Given the description of an element on the screen output the (x, y) to click on. 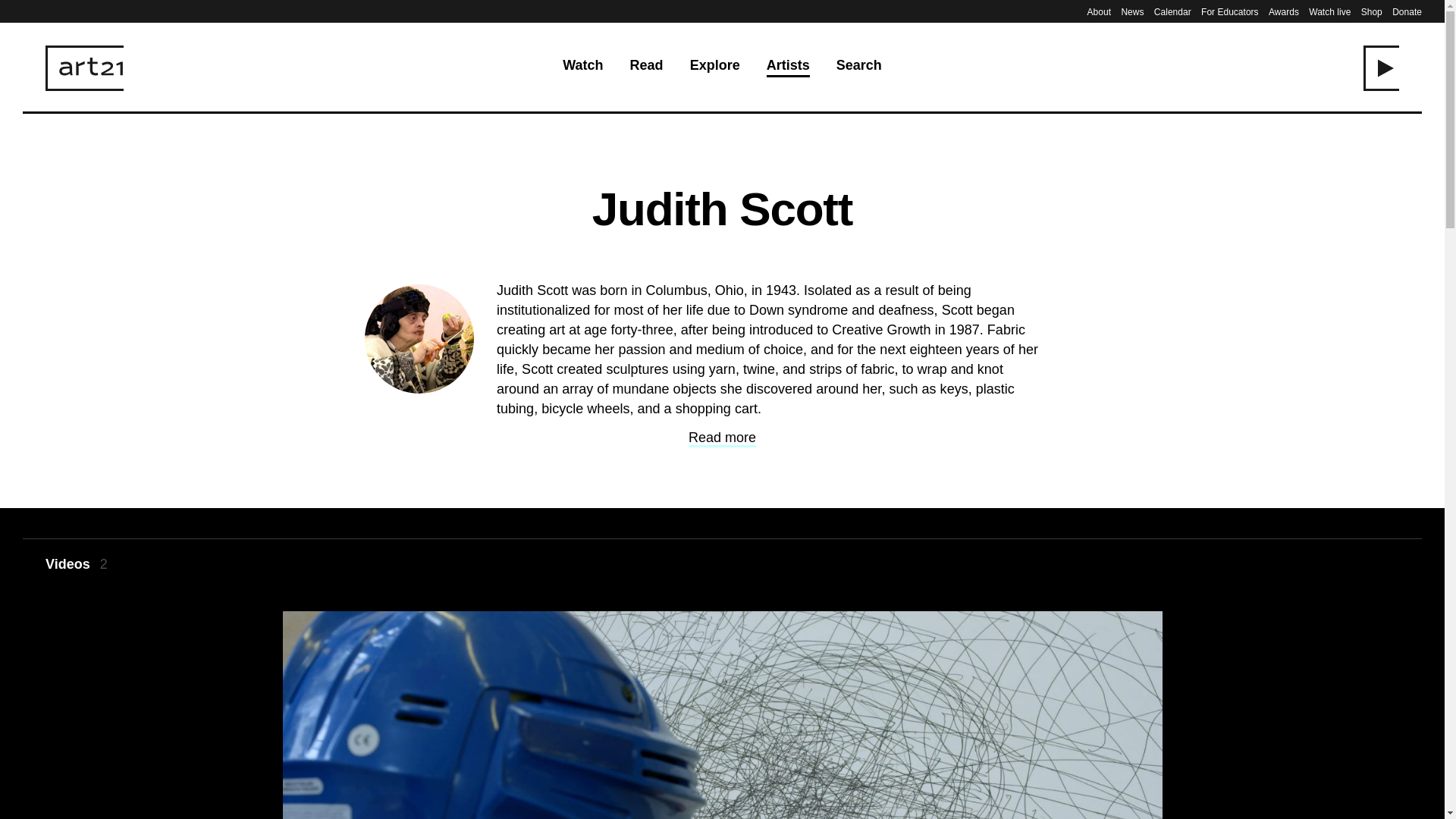
Art21 (84, 67)
Search (858, 66)
News (1131, 11)
Watch (582, 66)
For Educators (1230, 11)
Donate (1406, 11)
Explore (714, 66)
Calendar (1172, 11)
Shop (1371, 11)
Watch live (1329, 11)
Read (646, 66)
About (1098, 11)
Awards (1283, 11)
Artists (788, 66)
